Given the description of an element on the screen output the (x, y) to click on. 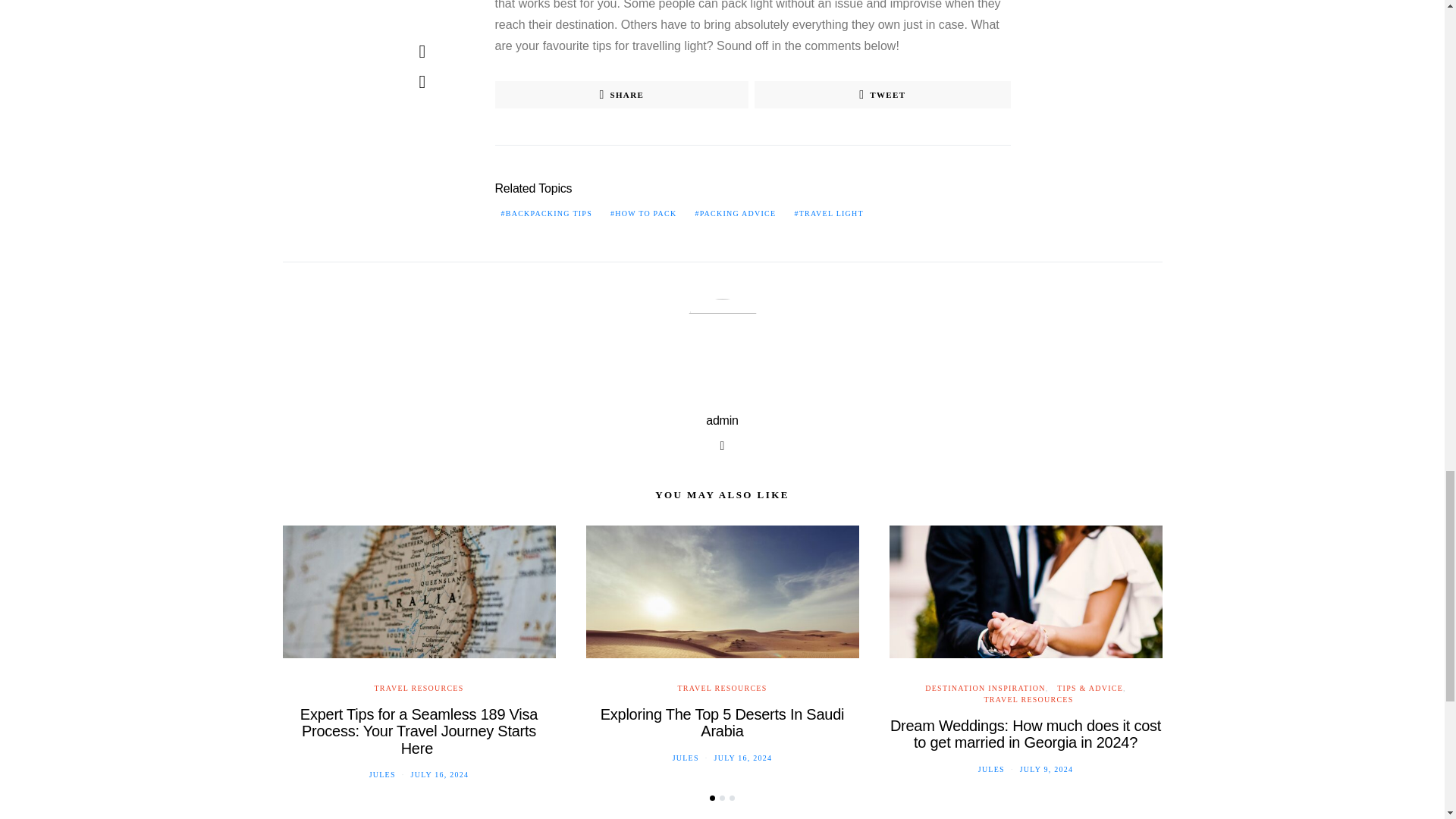
HOW TO PACK (643, 213)
View all posts by Jules (991, 768)
SHARE (621, 94)
View all posts by Jules (685, 757)
TWEET (882, 94)
BACKPACKING TIPS (545, 213)
View all posts by Jules (382, 774)
